Given the description of an element on the screen output the (x, y) to click on. 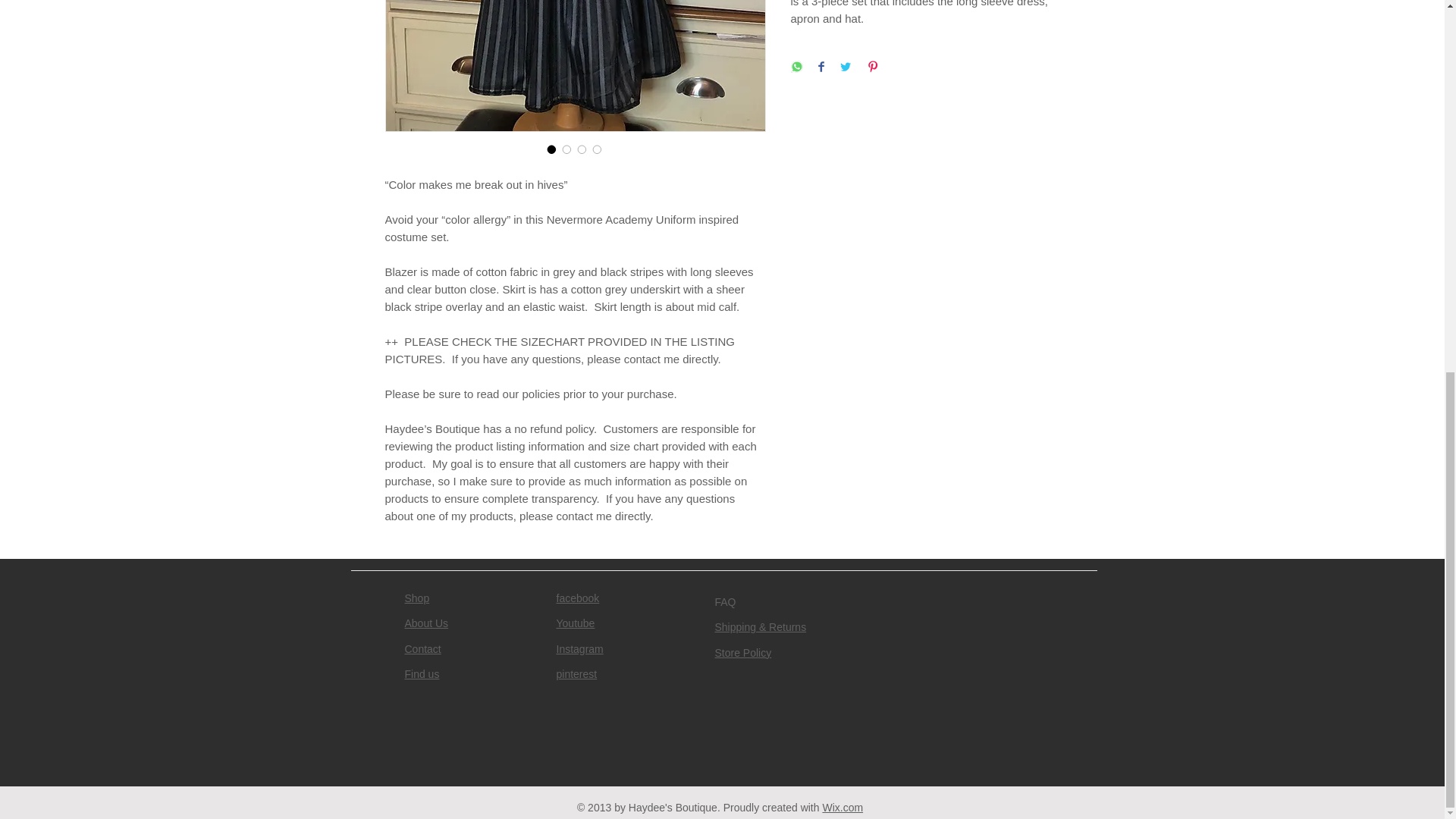
Youtube (575, 623)
pinterest (576, 674)
About Us (426, 623)
Find us (421, 674)
Contact (422, 648)
facebook (577, 598)
Instagram (580, 648)
FAQ (724, 602)
Shop (416, 598)
